Given the description of an element on the screen output the (x, y) to click on. 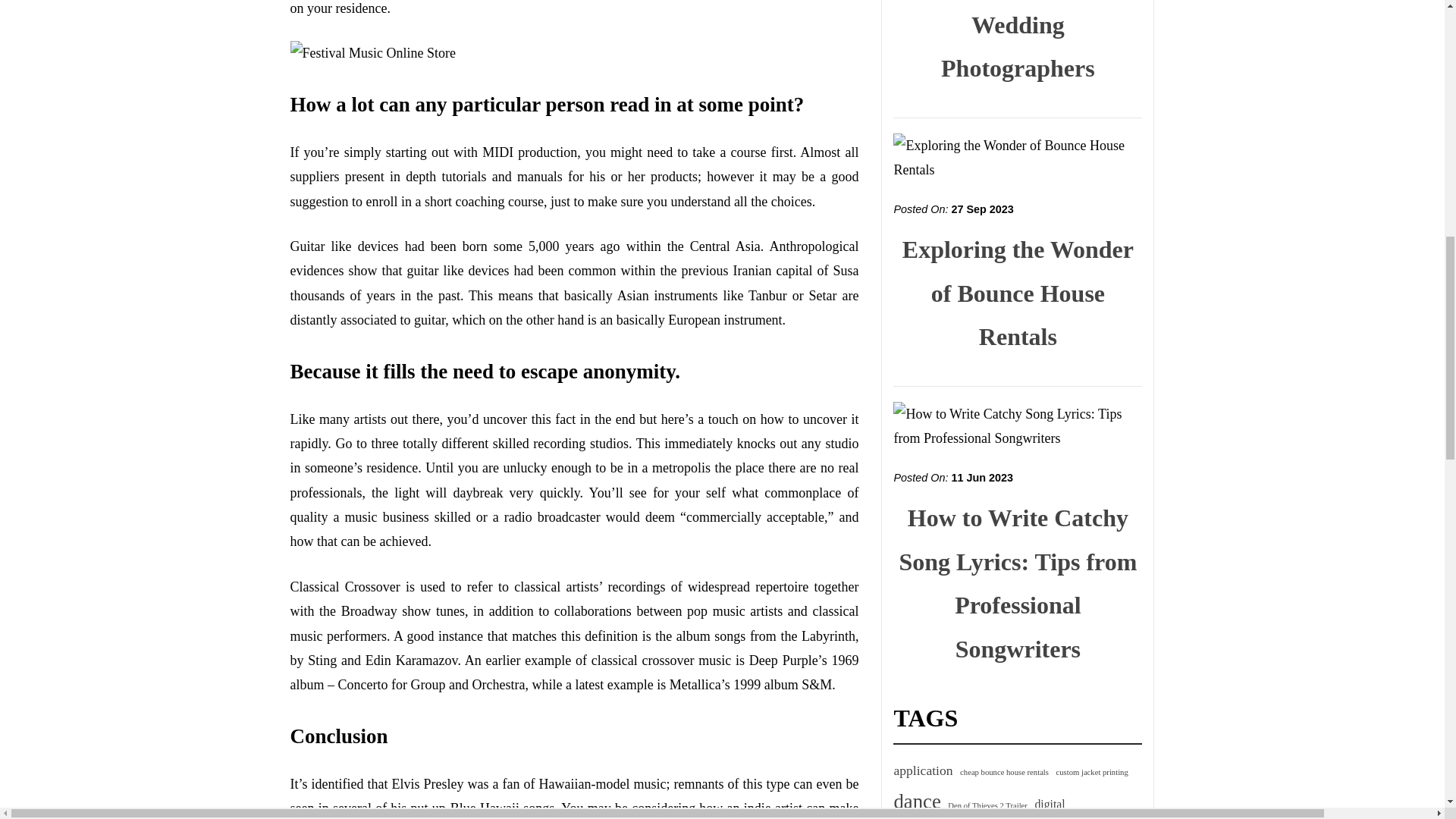
Exploring the Wonder of Bounce House Rentals 10 (1017, 157)
